Given the description of an element on the screen output the (x, y) to click on. 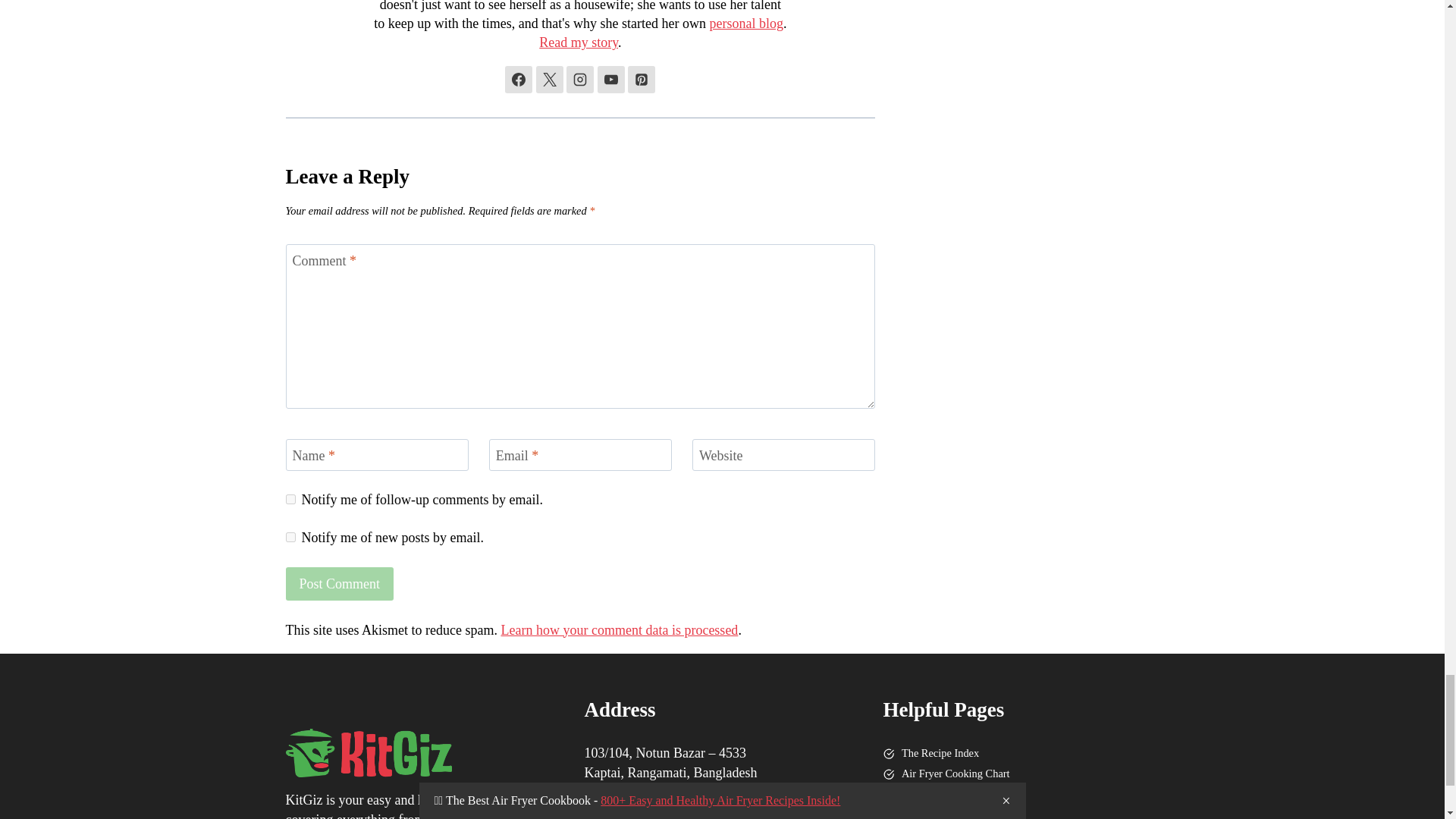
Read my story (577, 42)
personal blog (746, 23)
Post Comment (339, 583)
subscribe (290, 537)
subscribe (290, 499)
